Given the description of an element on the screen output the (x, y) to click on. 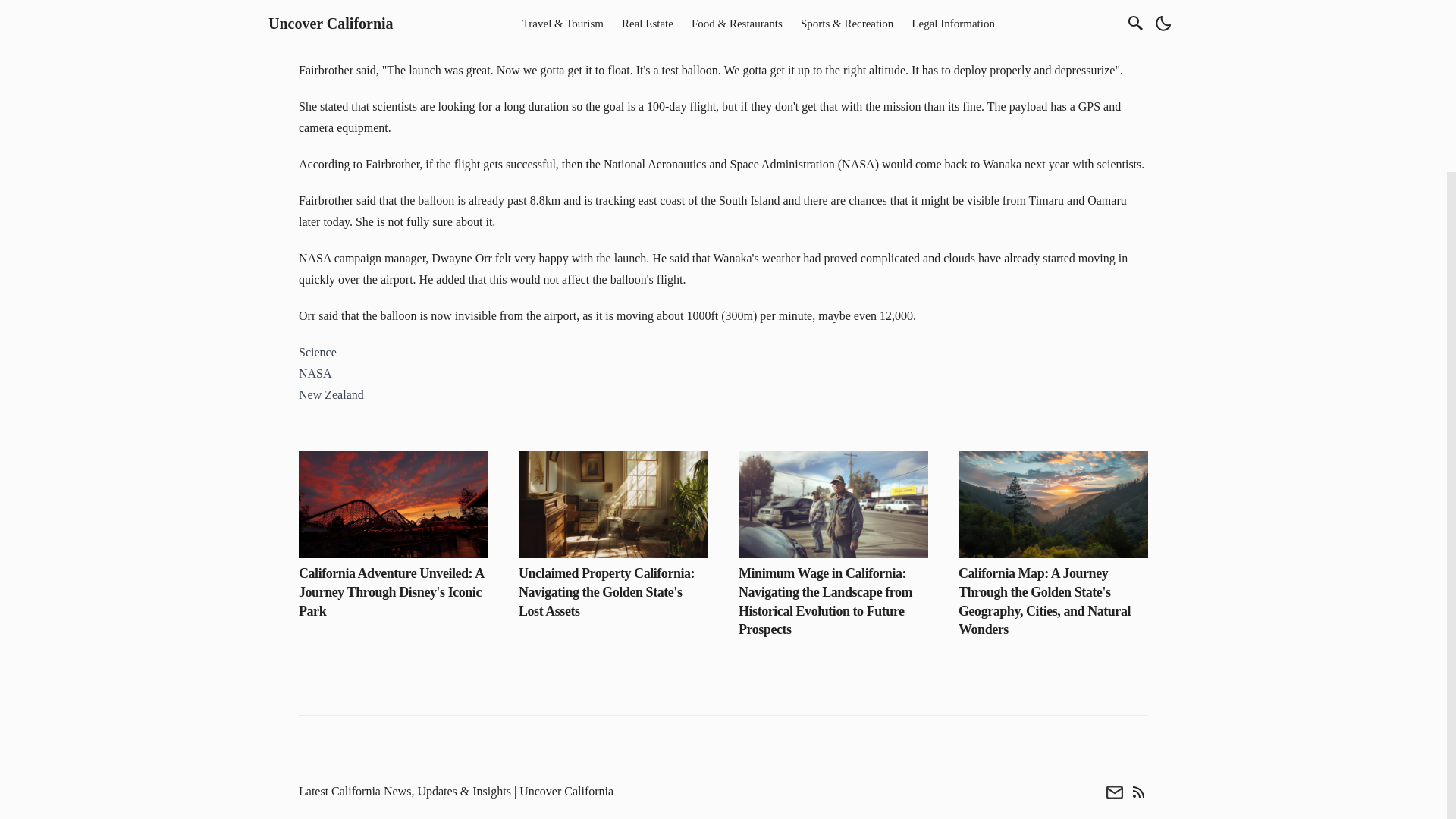
Contact (1114, 790)
